Given the description of an element on the screen output the (x, y) to click on. 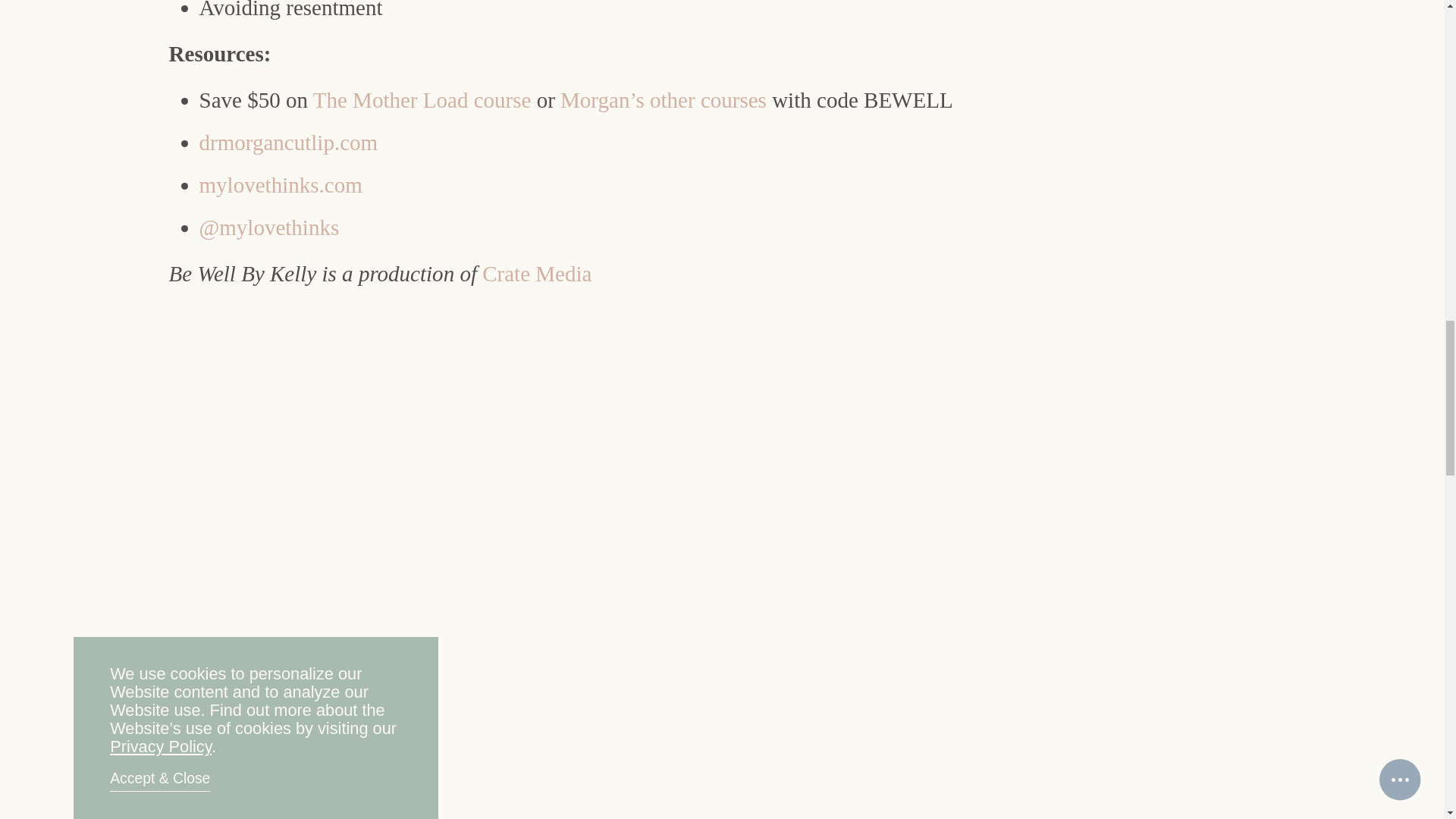
drmorgancutlip.com (288, 142)
mylovethinks.com (280, 184)
Crate Media (536, 273)
The Mother Load course (422, 99)
